Given the description of an element on the screen output the (x, y) to click on. 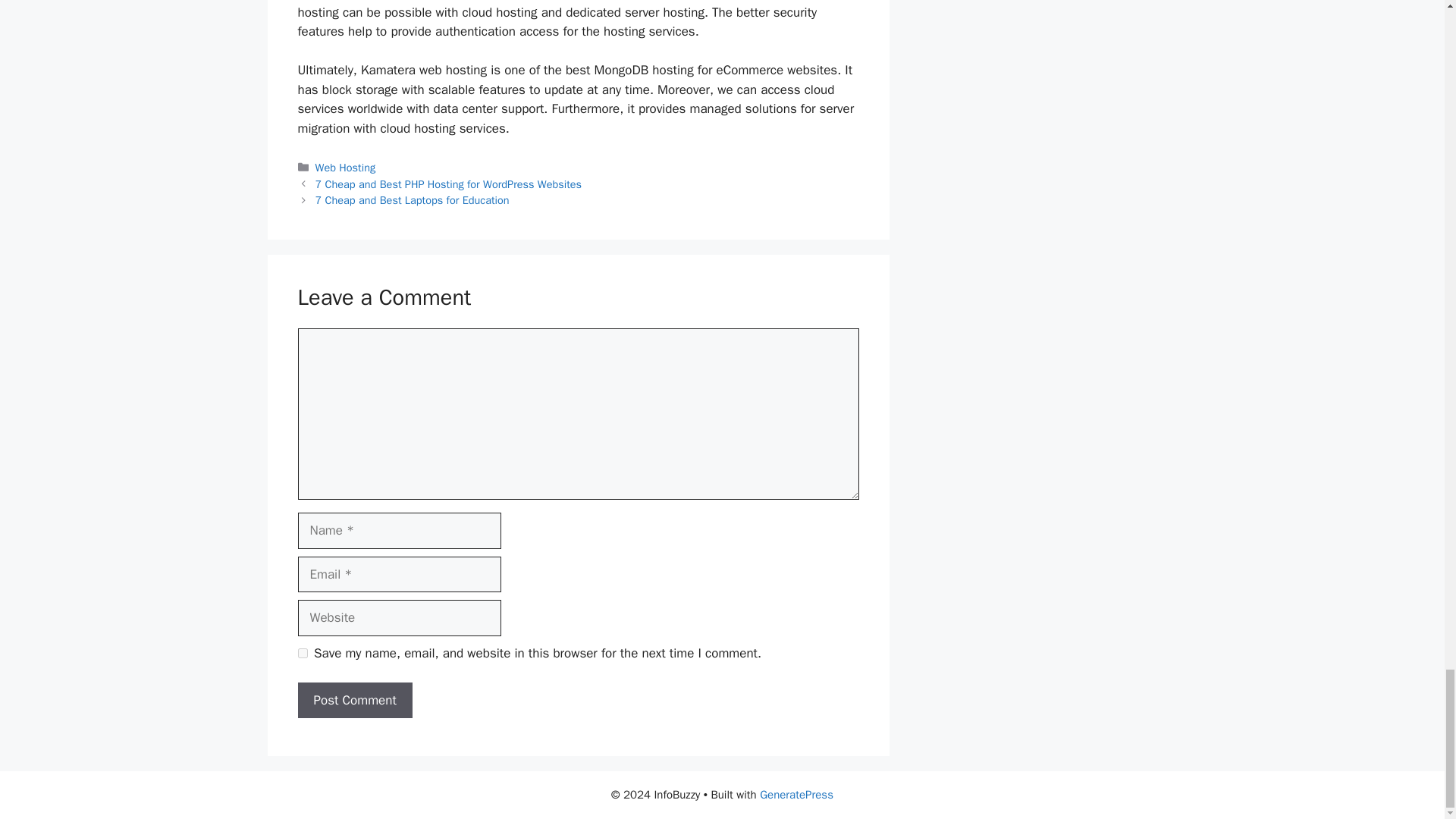
Post Comment (354, 700)
yes (302, 653)
Web Hosting (345, 167)
GeneratePress (796, 794)
7 Cheap and Best PHP Hosting for WordPress Websites (448, 183)
Post Comment (354, 700)
7 Cheap and Best Laptops for Education (412, 200)
